Given the description of an element on the screen output the (x, y) to click on. 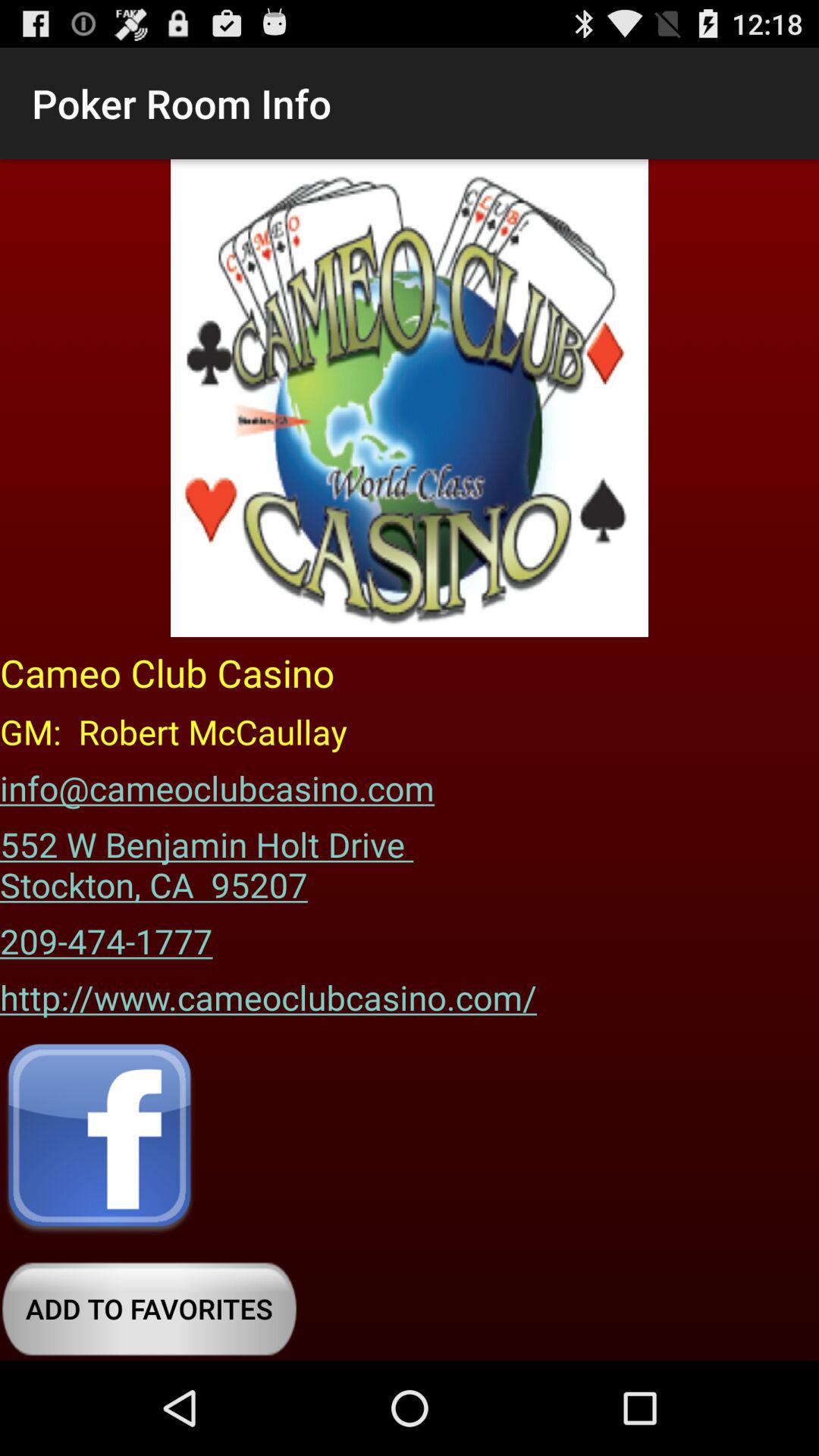
select the item below the info@cameoclubcasino.com icon (212, 859)
